Given the description of an element on the screen output the (x, y) to click on. 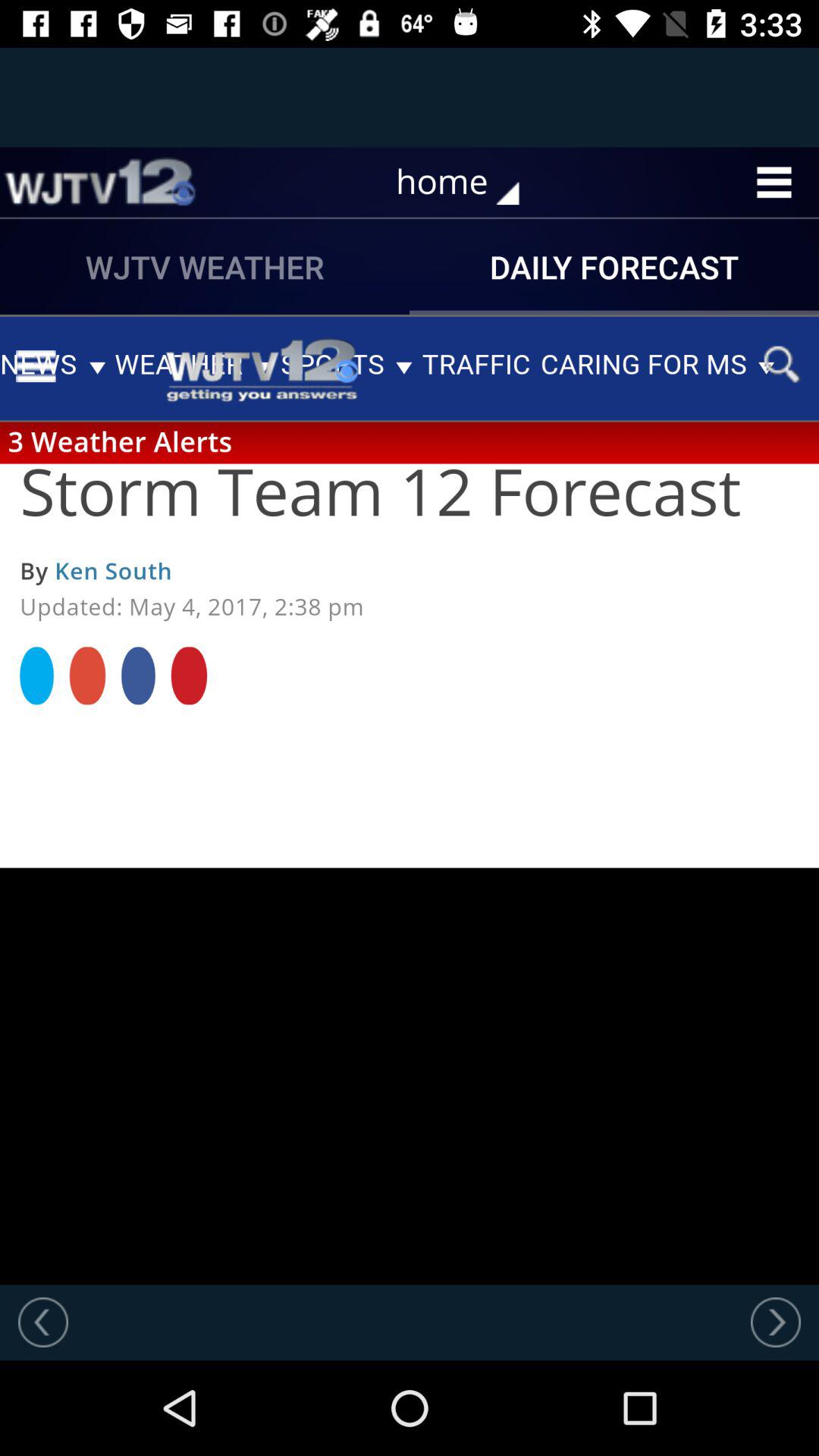
select home (468, 182)
